Given the description of an element on the screen output the (x, y) to click on. 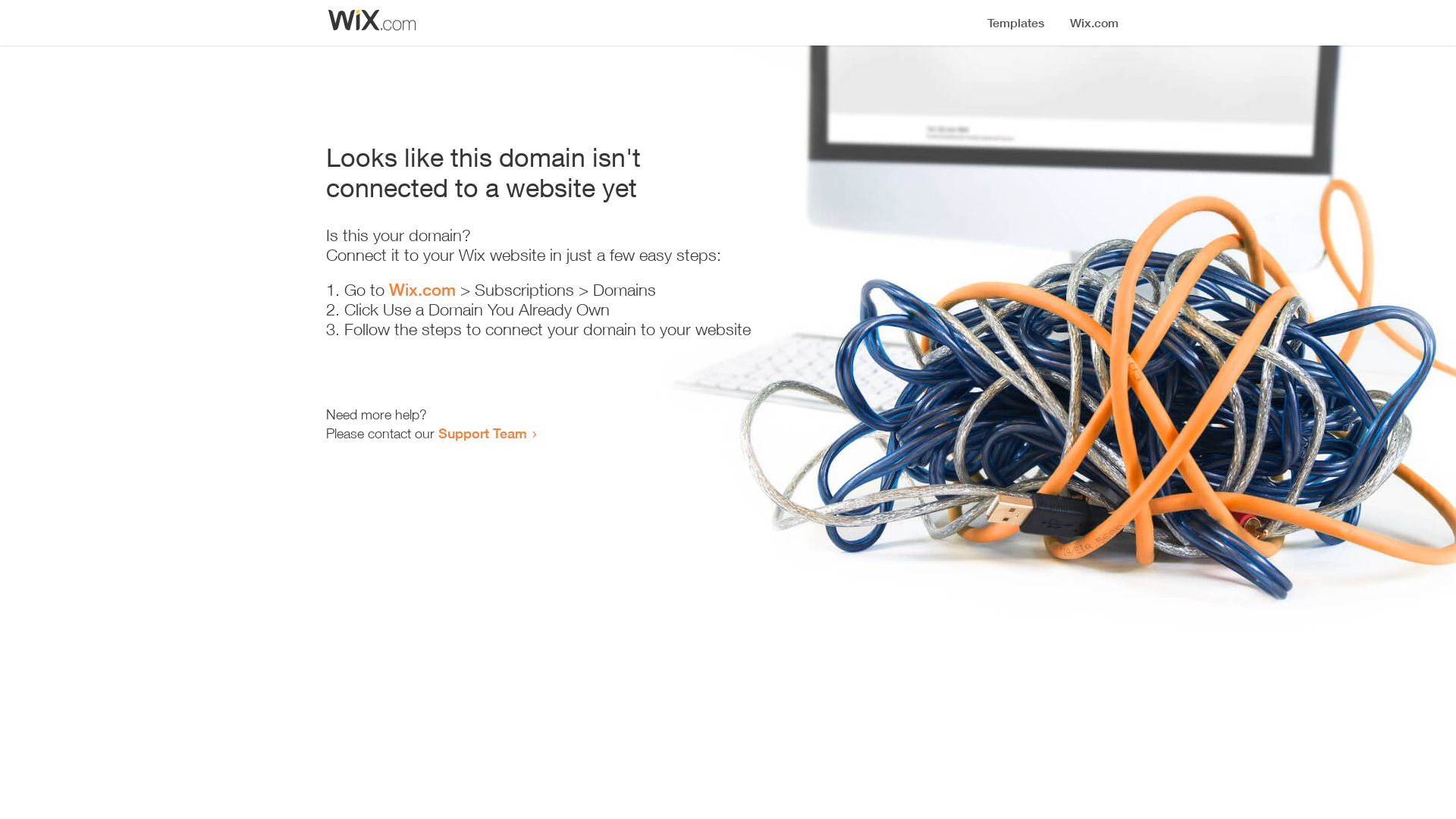
Support Team Element type: text (482, 432)
Wix.com Element type: text (422, 289)
